Given the description of an element on the screen output the (x, y) to click on. 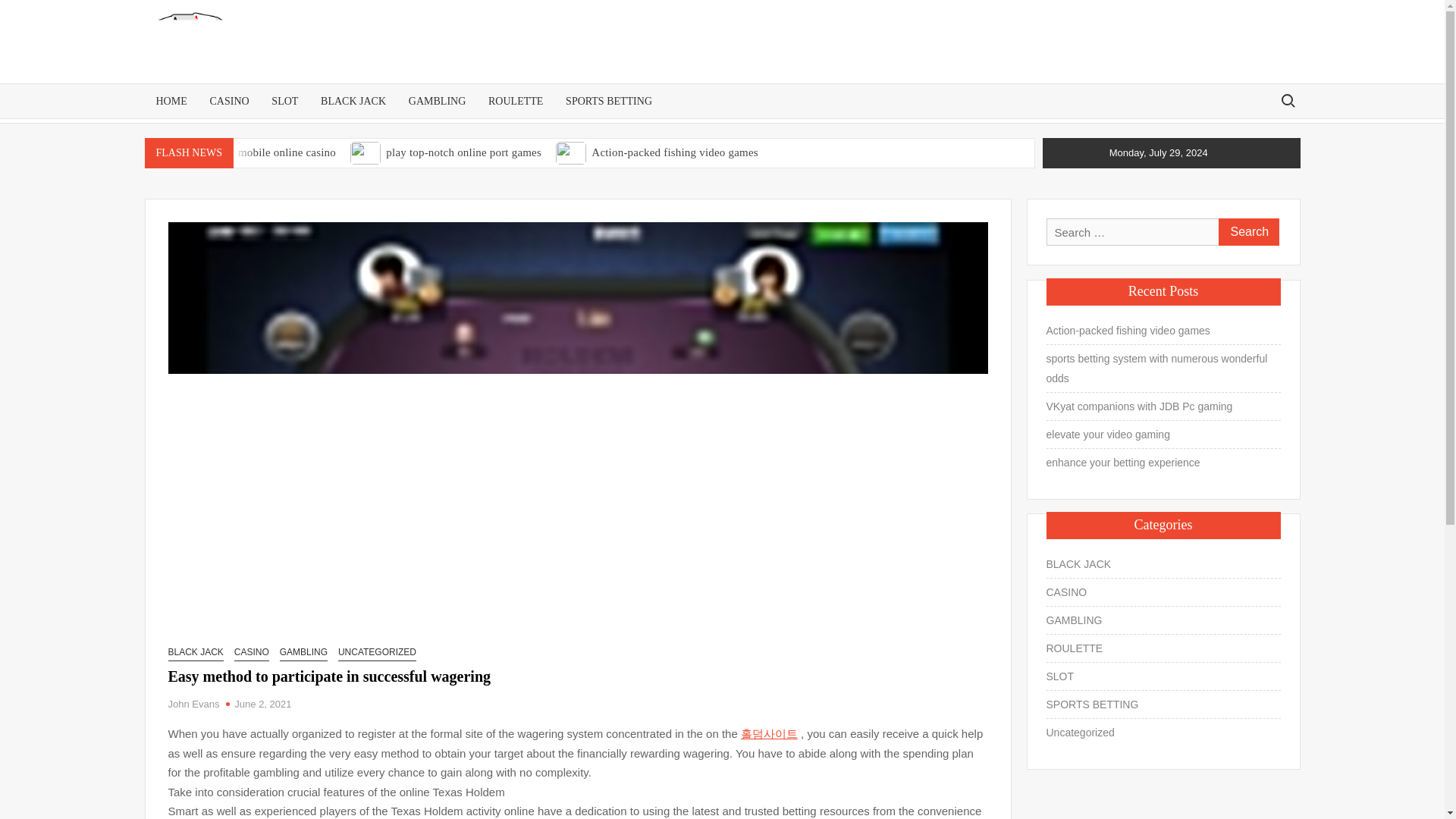
GAMBLING (437, 100)
trustworthy mobile online casino (161, 151)
play top-notch online port games (463, 152)
sports betting system with numerous wonderful odds (161, 177)
Action-packed fishing video games (674, 152)
Search (1247, 231)
Search for: (1287, 100)
trustworthy mobile online casino (258, 152)
play top-notch online port games (463, 152)
VKyat companions with JDB Pc gaming (460, 177)
SLOT (284, 100)
SPORTS BETTING (608, 100)
Action-packed fishing video games (674, 152)
trustworthy mobile online casino (258, 152)
HOME (171, 100)
